Given the description of an element on the screen output the (x, y) to click on. 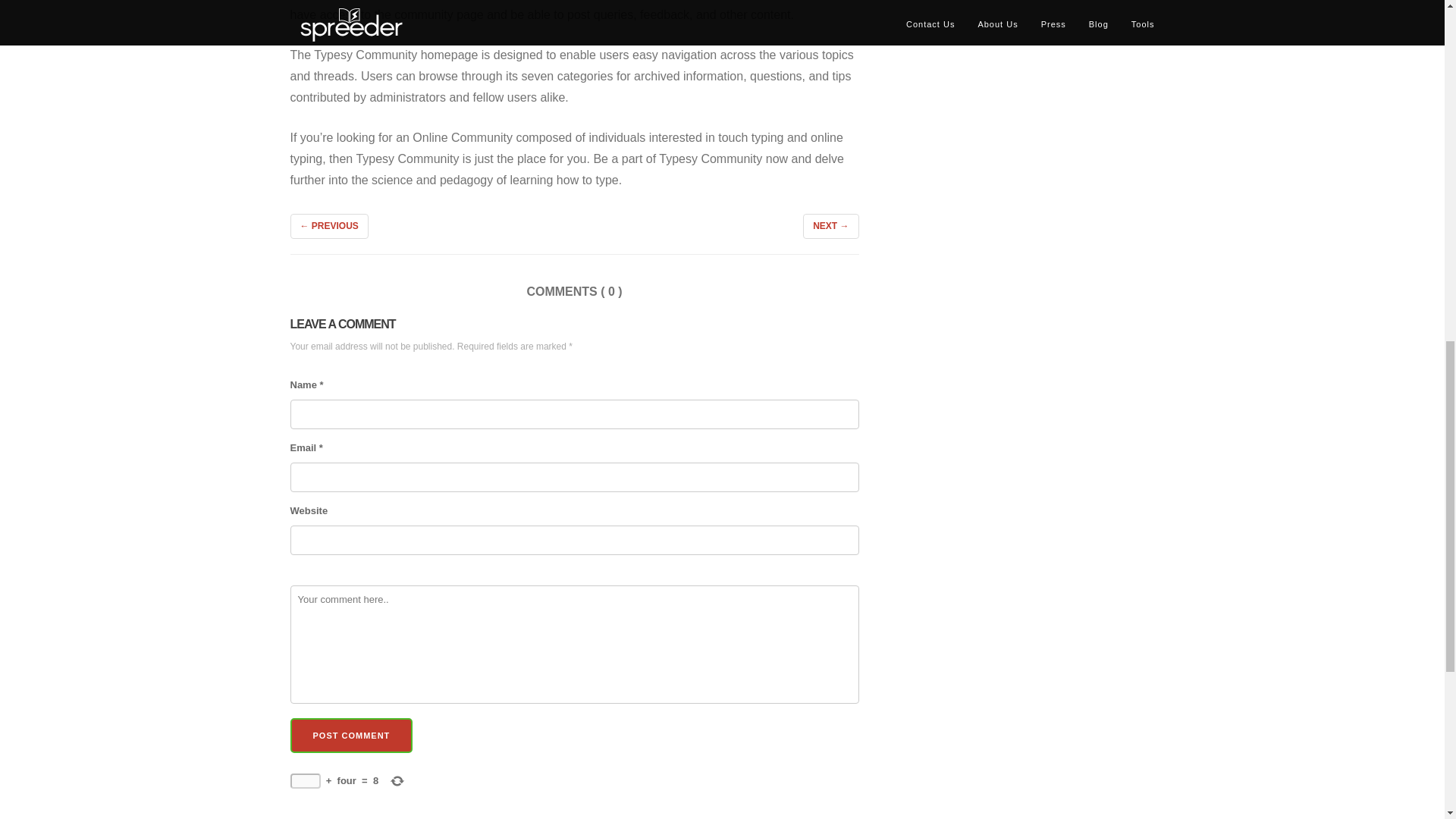
POST COMMENT (350, 735)
